Given the description of an element on the screen output the (x, y) to click on. 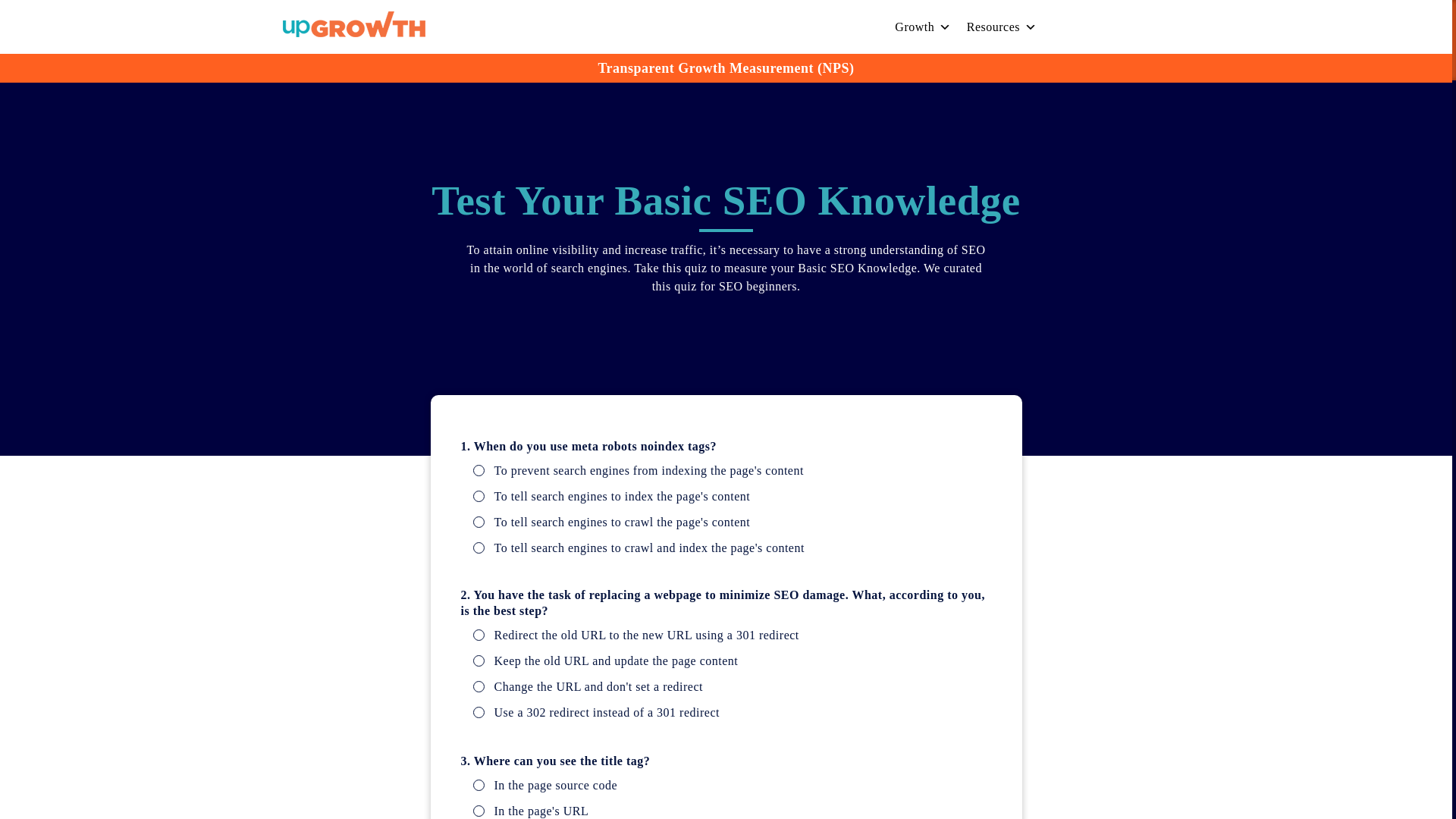
Growth (922, 27)
Resources (1002, 27)
Contact Us (1107, 27)
